Given the description of an element on the screen output the (x, y) to click on. 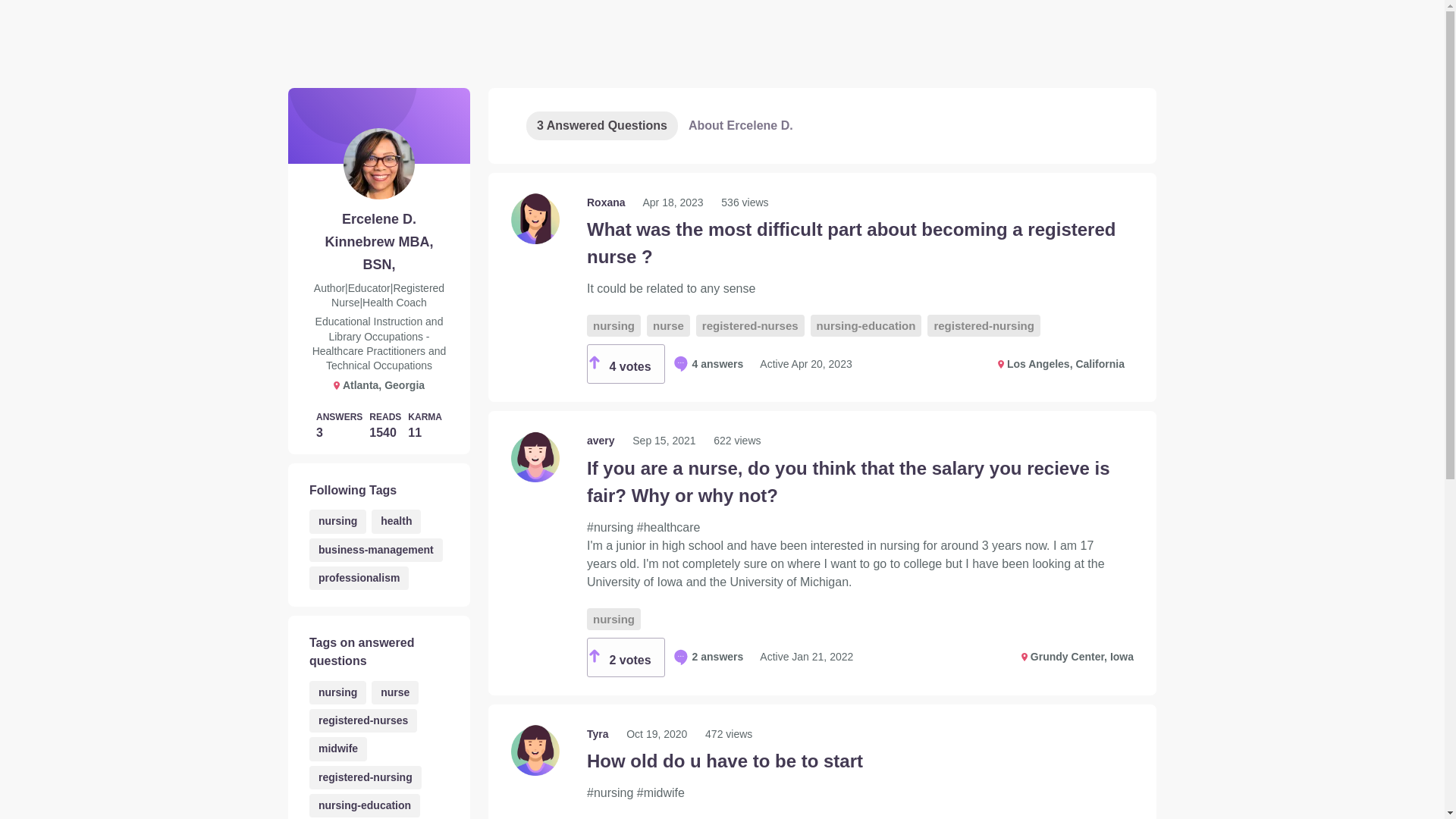
nursing (613, 325)
4 votes (625, 363)
See Career Questions tagged 'Nursing' (337, 521)
See Career Questions tagged 'Business Management' (375, 549)
nursing-education (865, 325)
avery (601, 440)
4 answers (708, 363)
registered-nursing (984, 325)
health (395, 521)
See Career Questions tagged 'Registered Nursing' (365, 777)
